Given the description of an element on the screen output the (x, y) to click on. 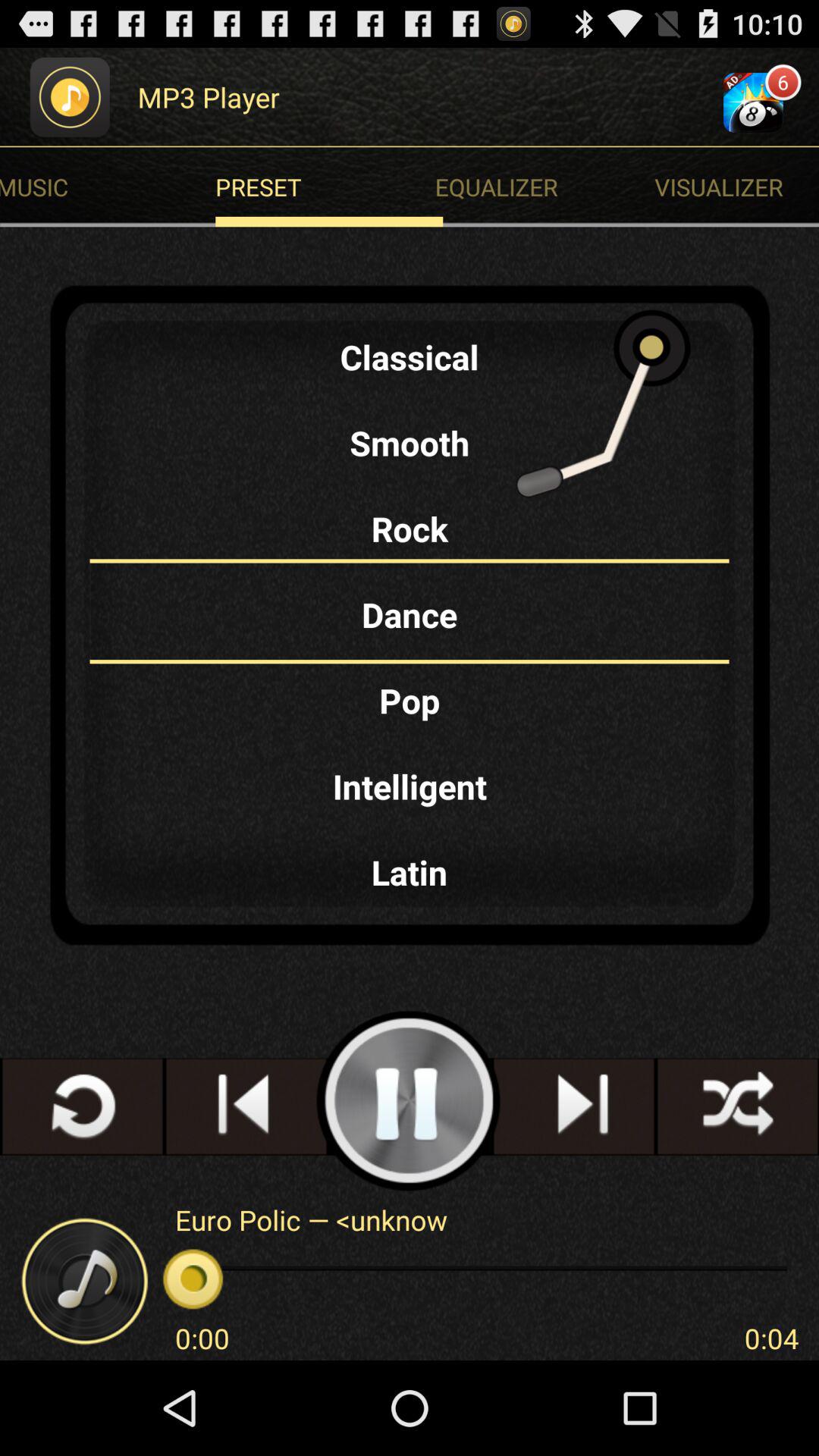
jump until the equalizer radio button (548, 186)
